Given the description of an element on the screen output the (x, y) to click on. 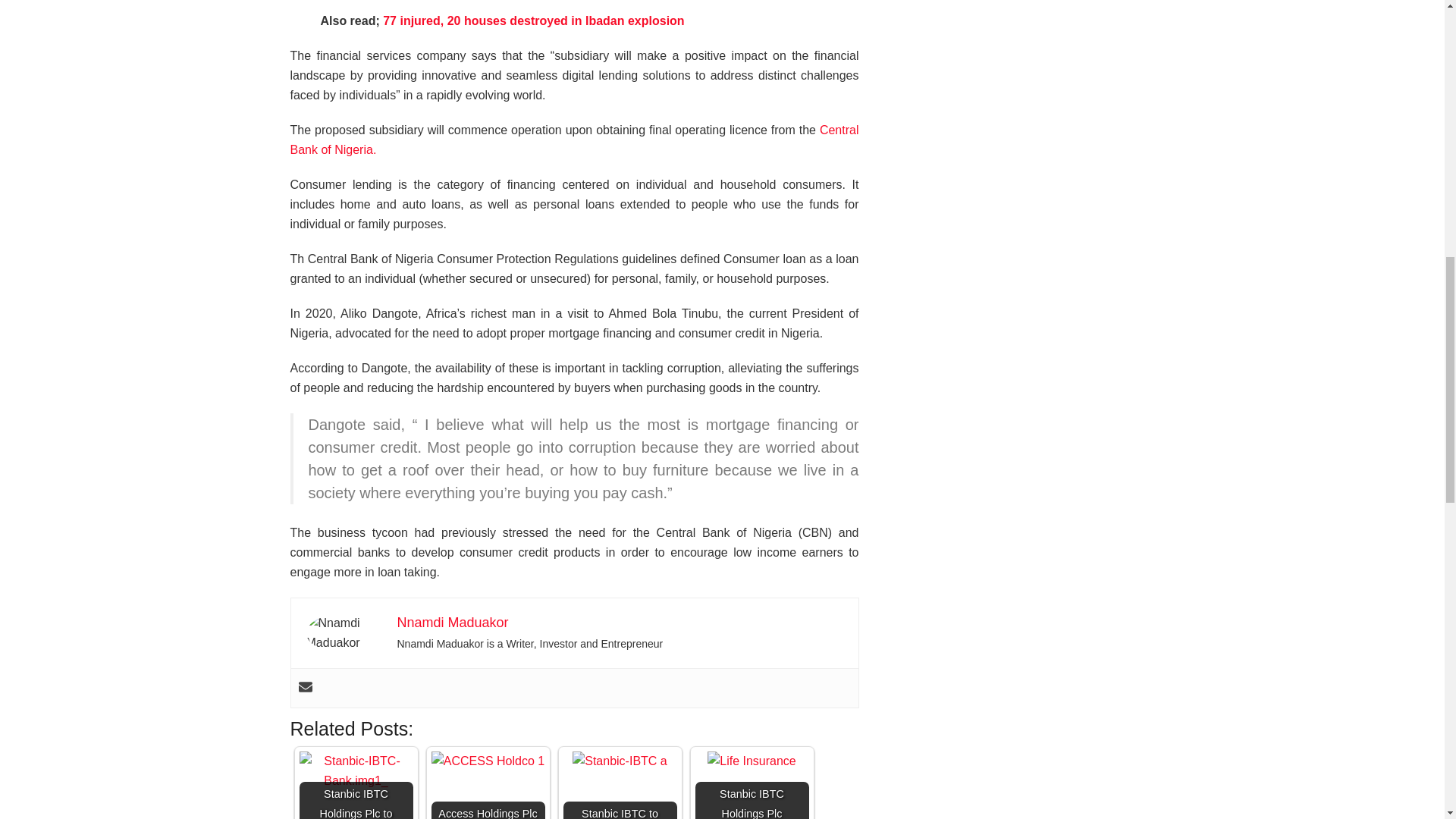
Stanbic IBTC Holdings Plc to establish Fin Tech subsidiary (355, 771)
